Given the description of an element on the screen output the (x, y) to click on. 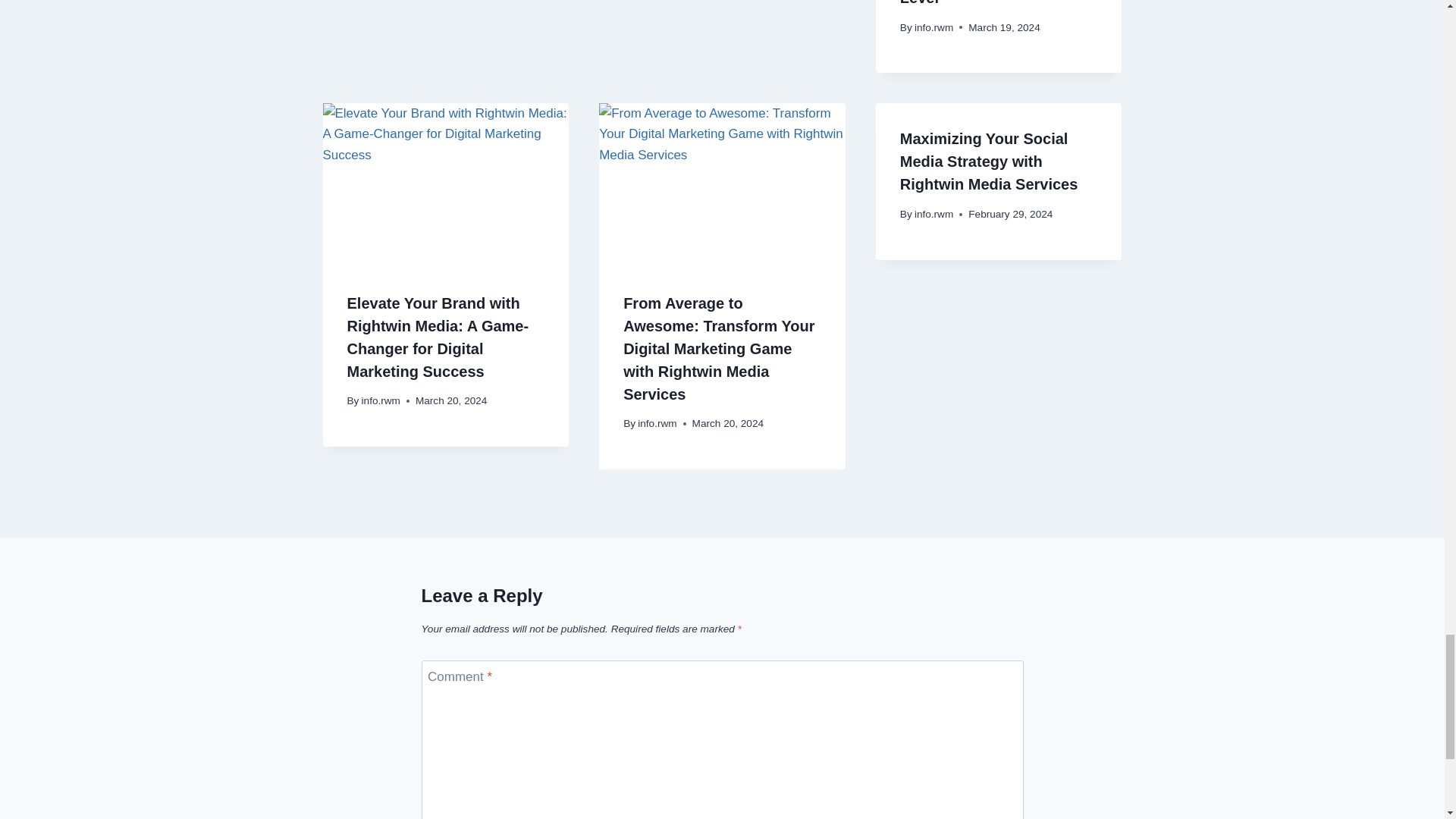
info.rwm (933, 27)
info.rwm (380, 400)
